Given the description of an element on the screen output the (x, y) to click on. 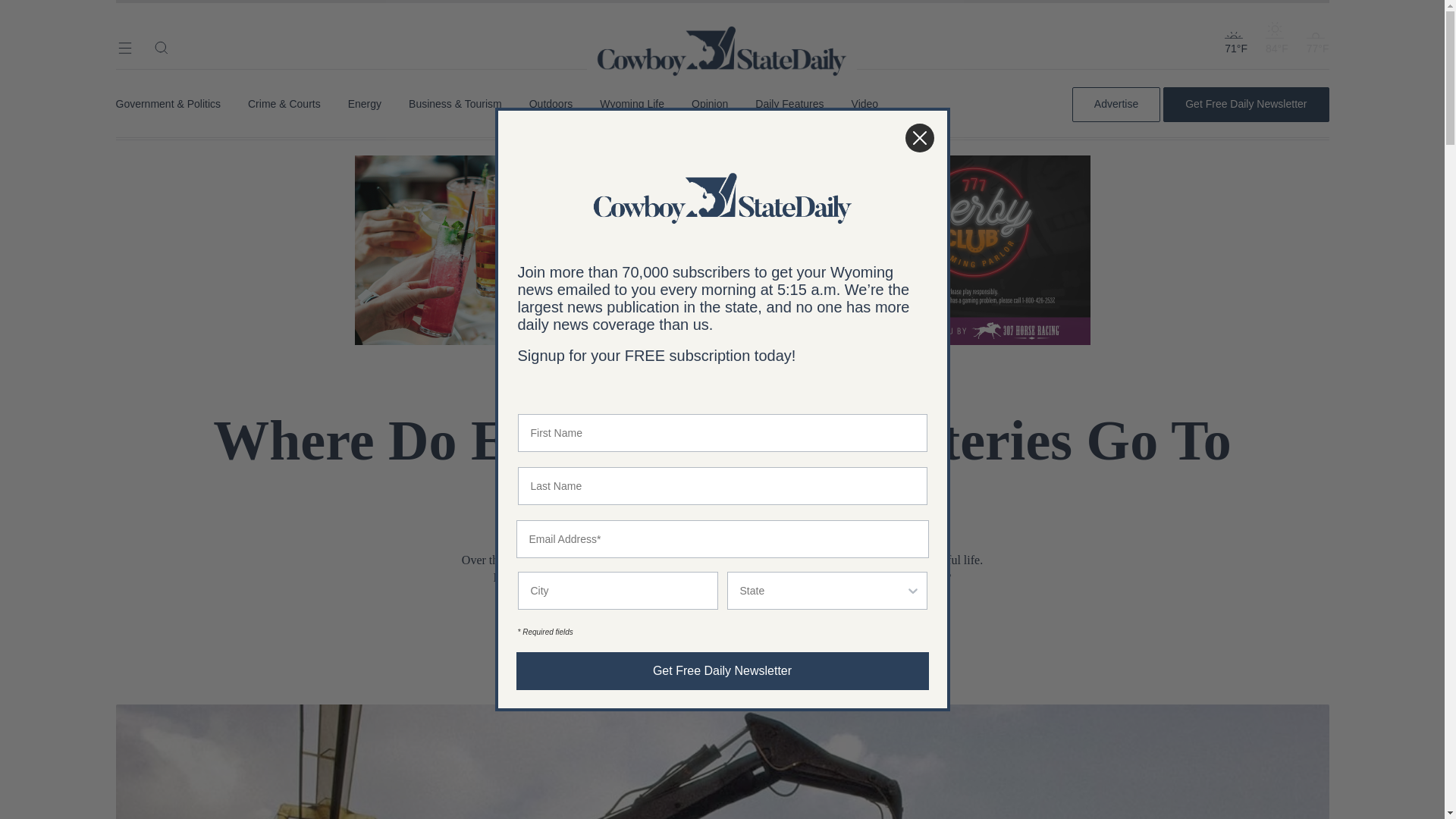
Get Free Daily Newsletter (1245, 104)
Wyoming Life (631, 104)
Daily Features (789, 104)
Go to homepage (721, 30)
Search (160, 47)
Advertise (1115, 104)
Menu (124, 47)
Close dialog 1 (919, 137)
